Given the description of an element on the screen output the (x, y) to click on. 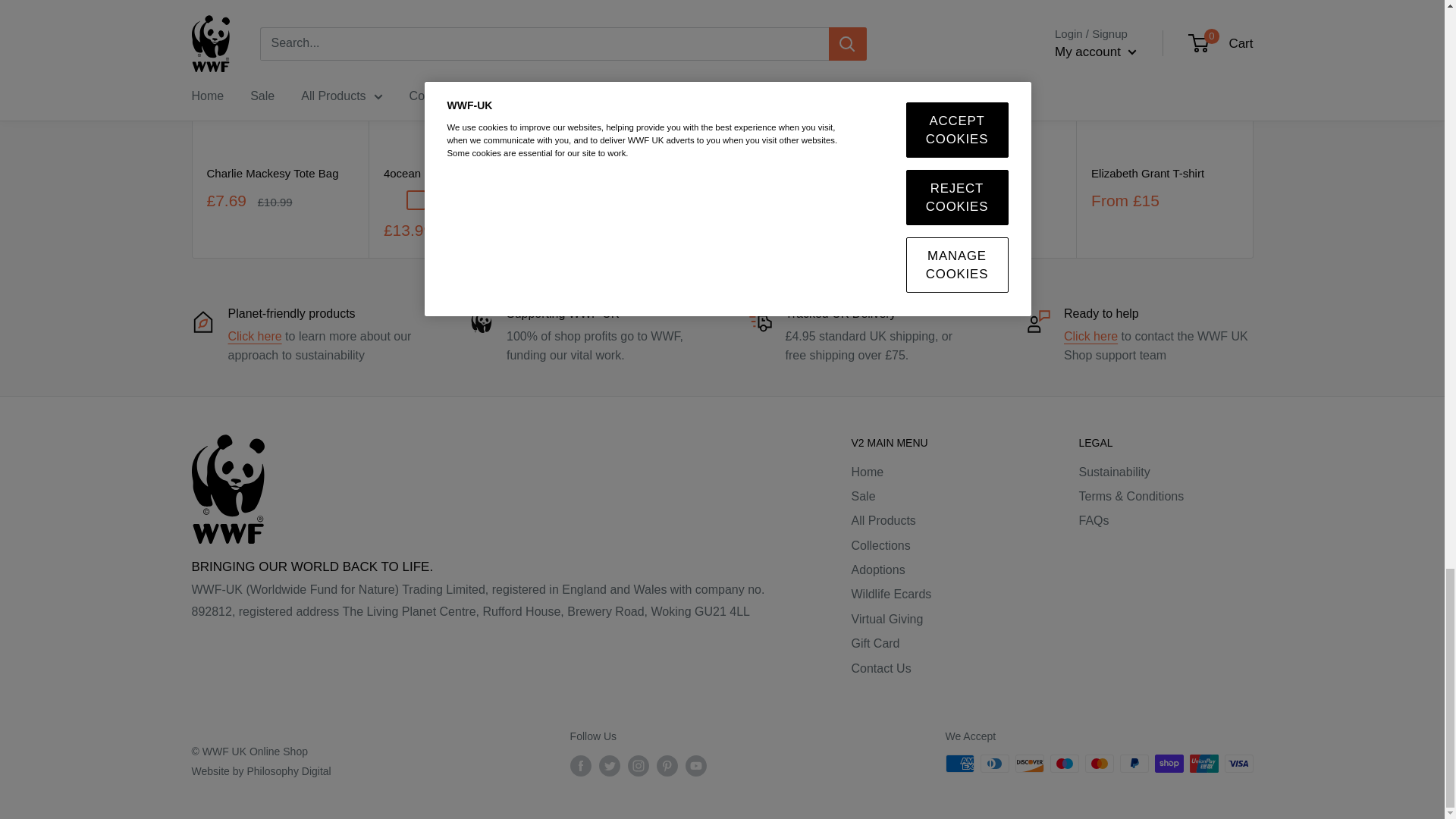
Blue (461, 200)
White (438, 200)
Coral (393, 200)
